Given the description of an element on the screen output the (x, y) to click on. 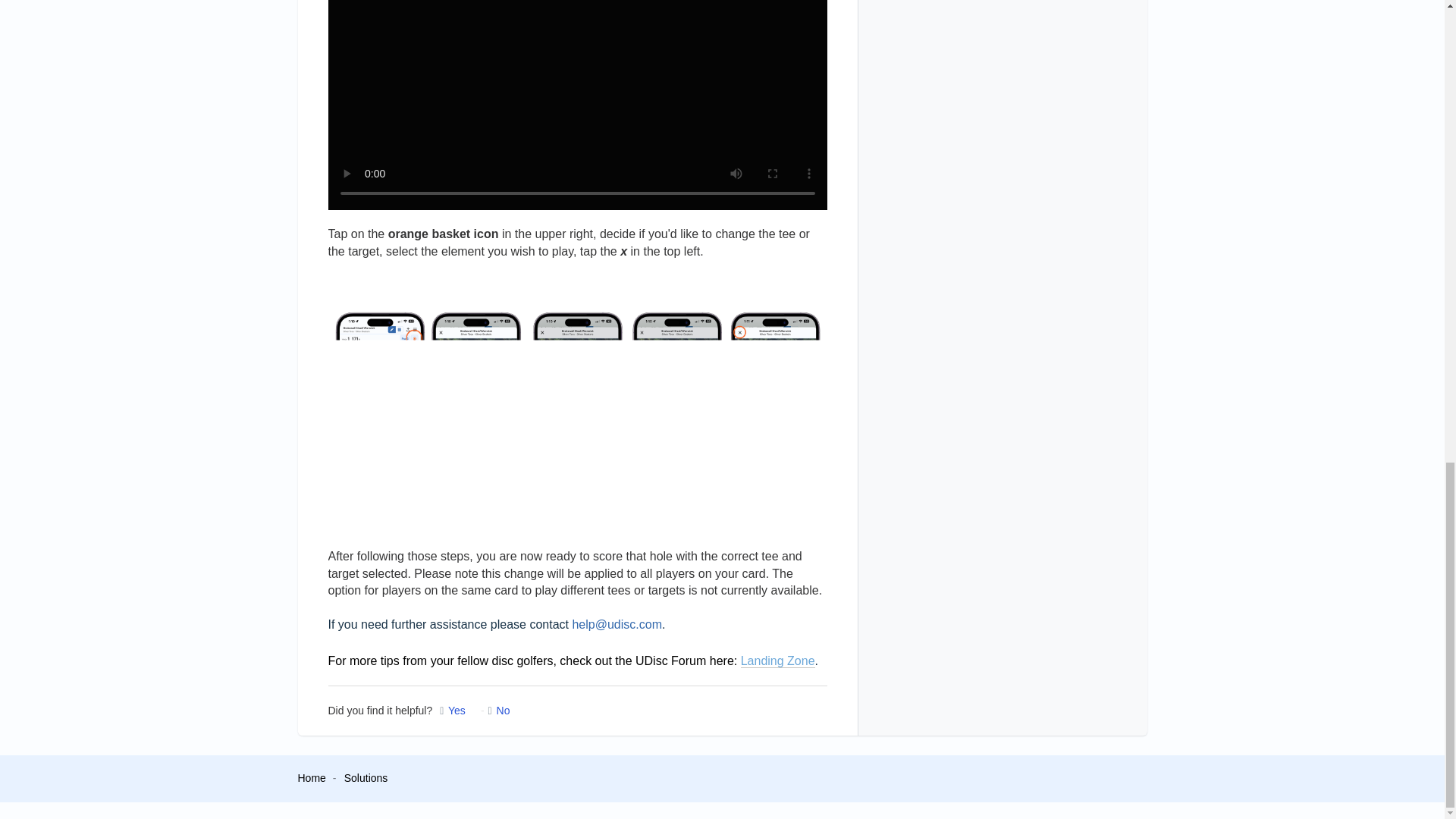
Solutions (365, 777)
Home (310, 777)
Landing Zone (778, 661)
